Given the description of an element on the screen output the (x, y) to click on. 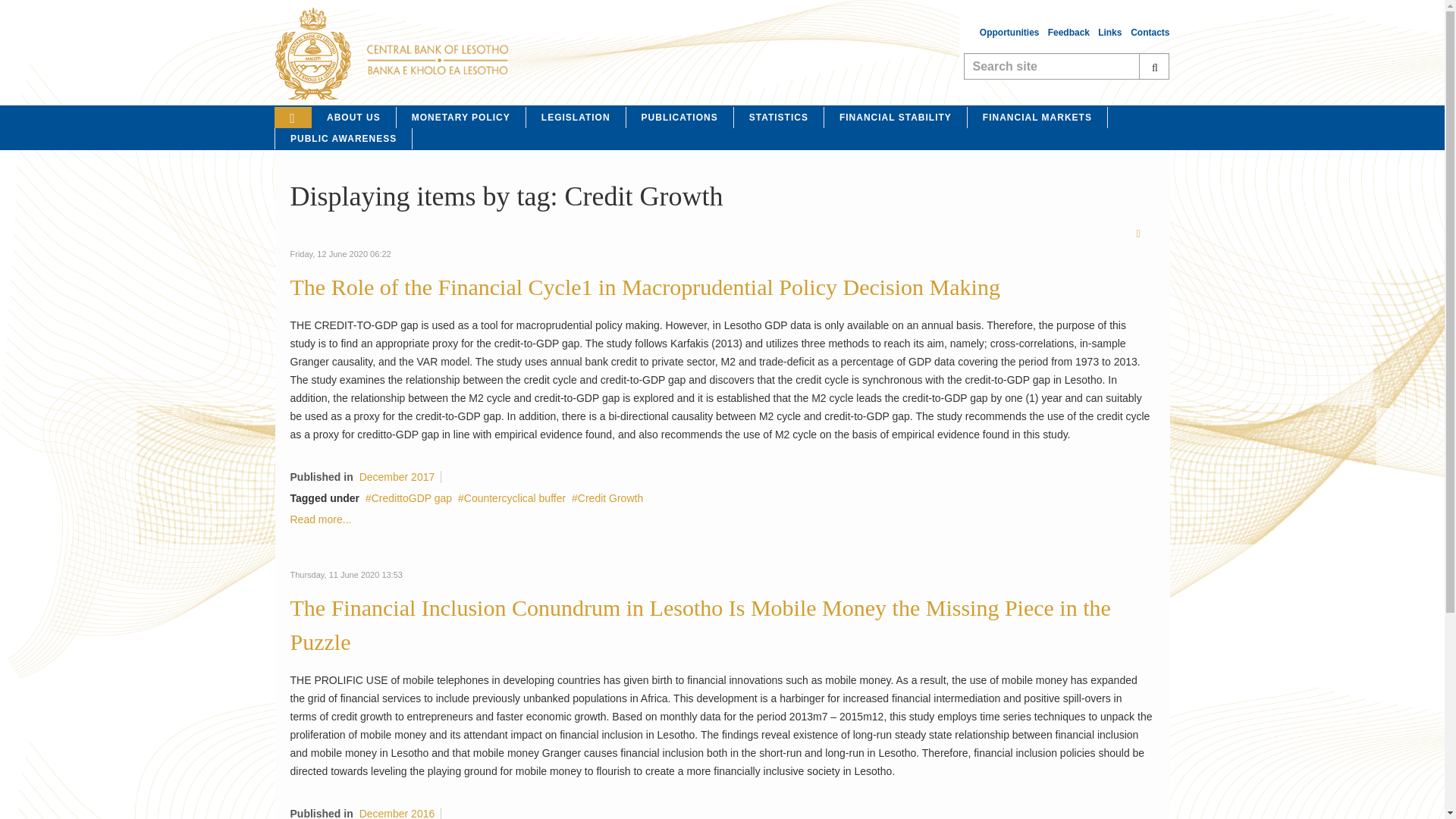
Search site (1066, 66)
ABOUT US (353, 117)
Links (1109, 32)
Subscribe to this RSS feed (1141, 234)
HOME (294, 117)
Opportunities  (1010, 32)
Contacts (1150, 32)
Search site (1066, 66)
Feedback  (1070, 32)
